Given the description of an element on the screen output the (x, y) to click on. 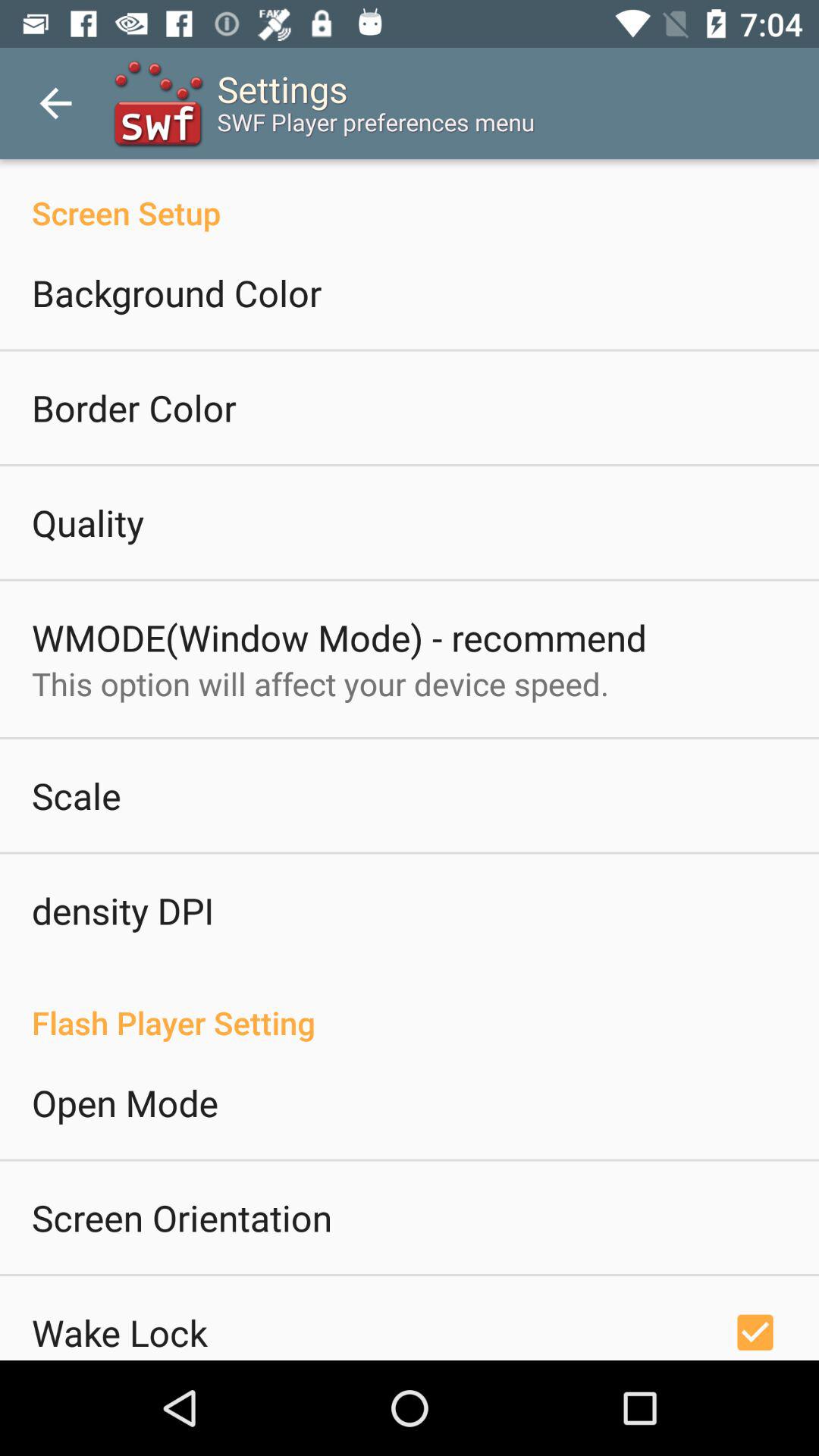
launch icon below flash player setting (124, 1102)
